Given the description of an element on the screen output the (x, y) to click on. 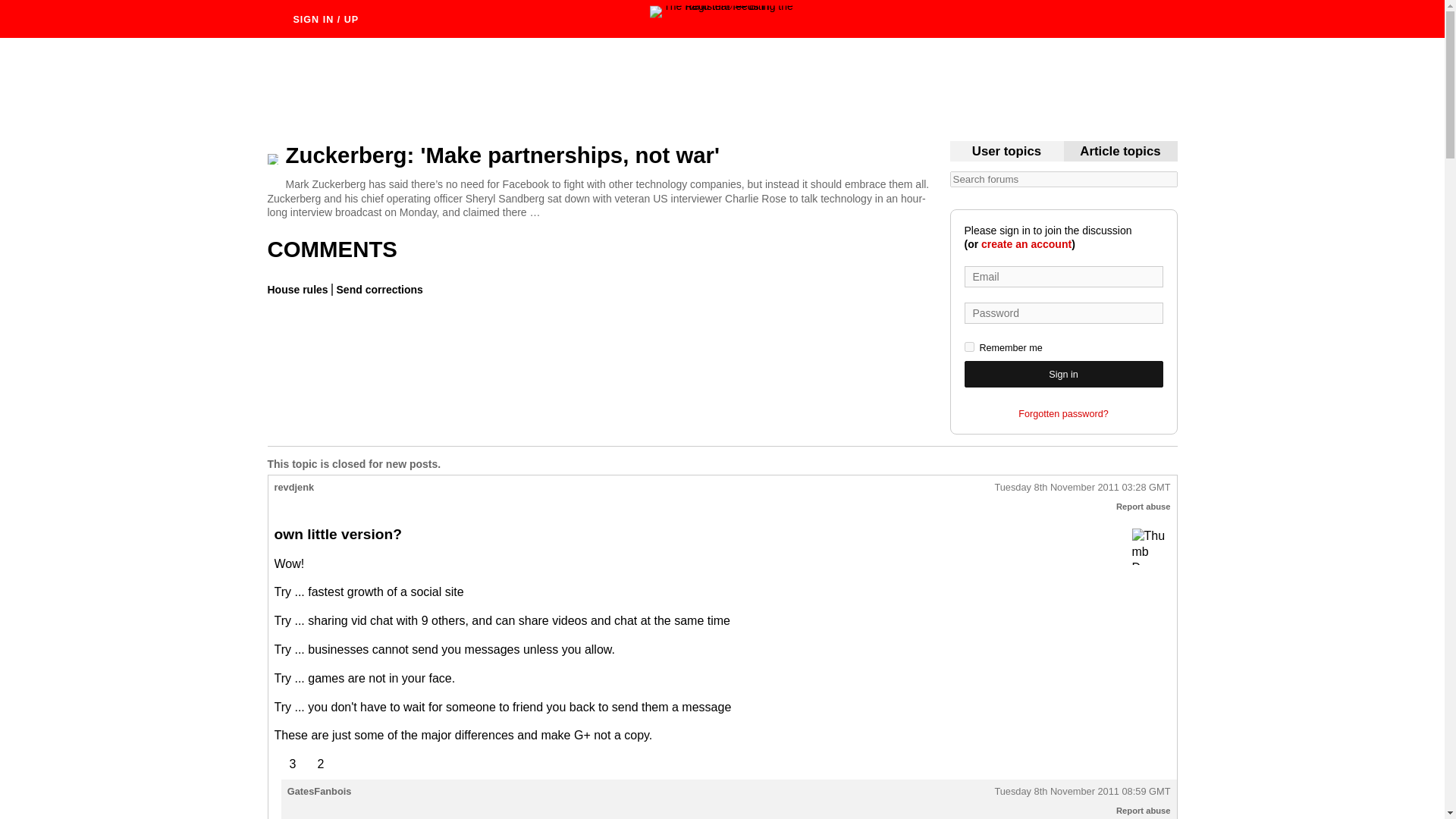
Hate it (1149, 546)
Dislike this post? Vote it down! (312, 764)
Sign in (1063, 374)
Spotted an error? Let us know. (377, 289)
Permalink to this post (1082, 791)
Report abuse (1143, 506)
Commentards, Commentards, Commentards (1006, 151)
Inappropriate post? Report it to our moderators (1143, 809)
For corrections, please use link below article copy, kthxbye (1120, 151)
yes (968, 347)
